Given the description of an element on the screen output the (x, y) to click on. 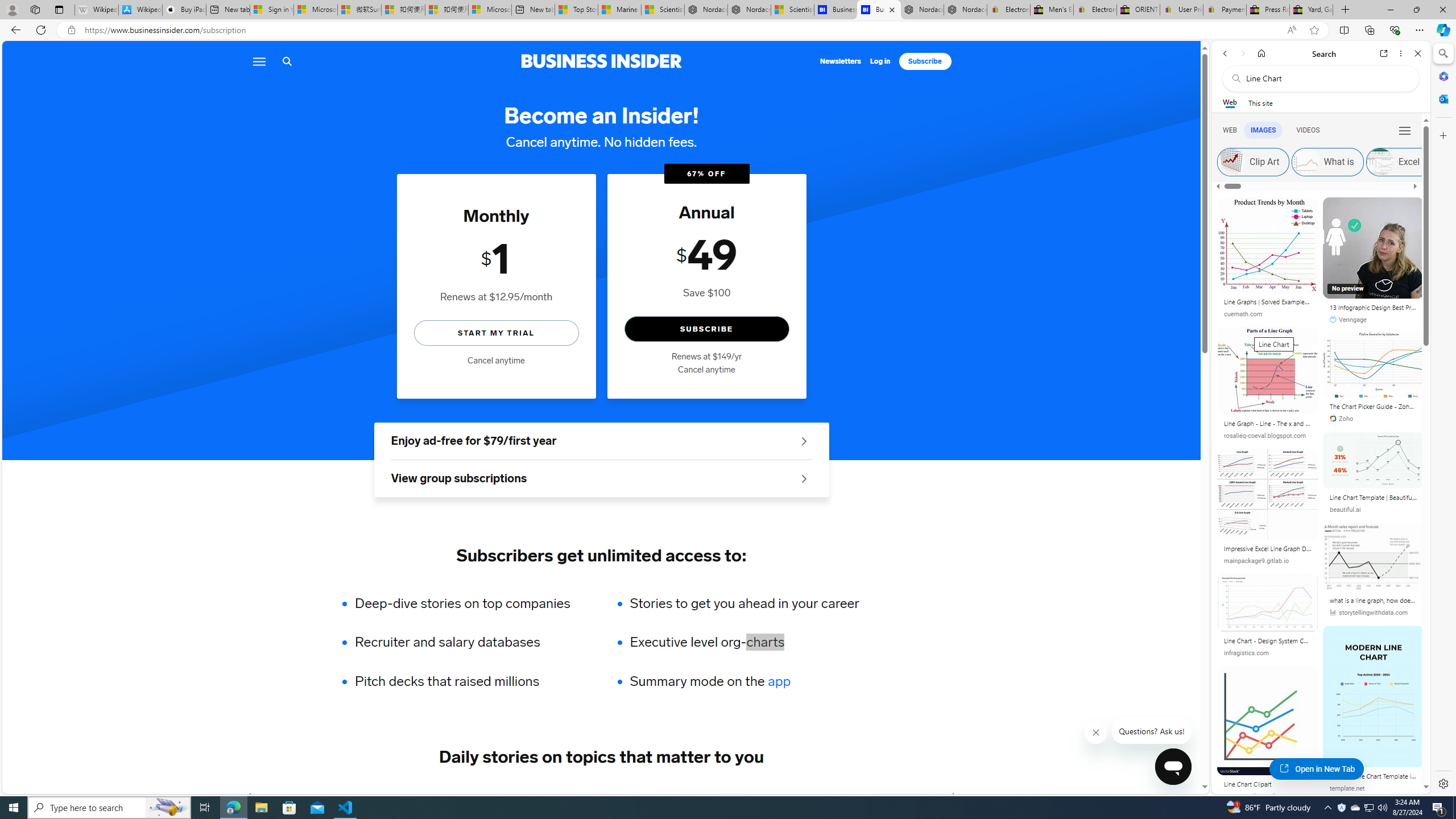
Microsoft account | Account Checkup (489, 9)
Menu (257, 61)
mainpackage9.gitlab.io (1257, 561)
ADVERTISING (349, 796)
Web scope (1230, 102)
PERSONAL FINANCE (577, 796)
cuemath.com (1243, 313)
